Given the description of an element on the screen output the (x, y) to click on. 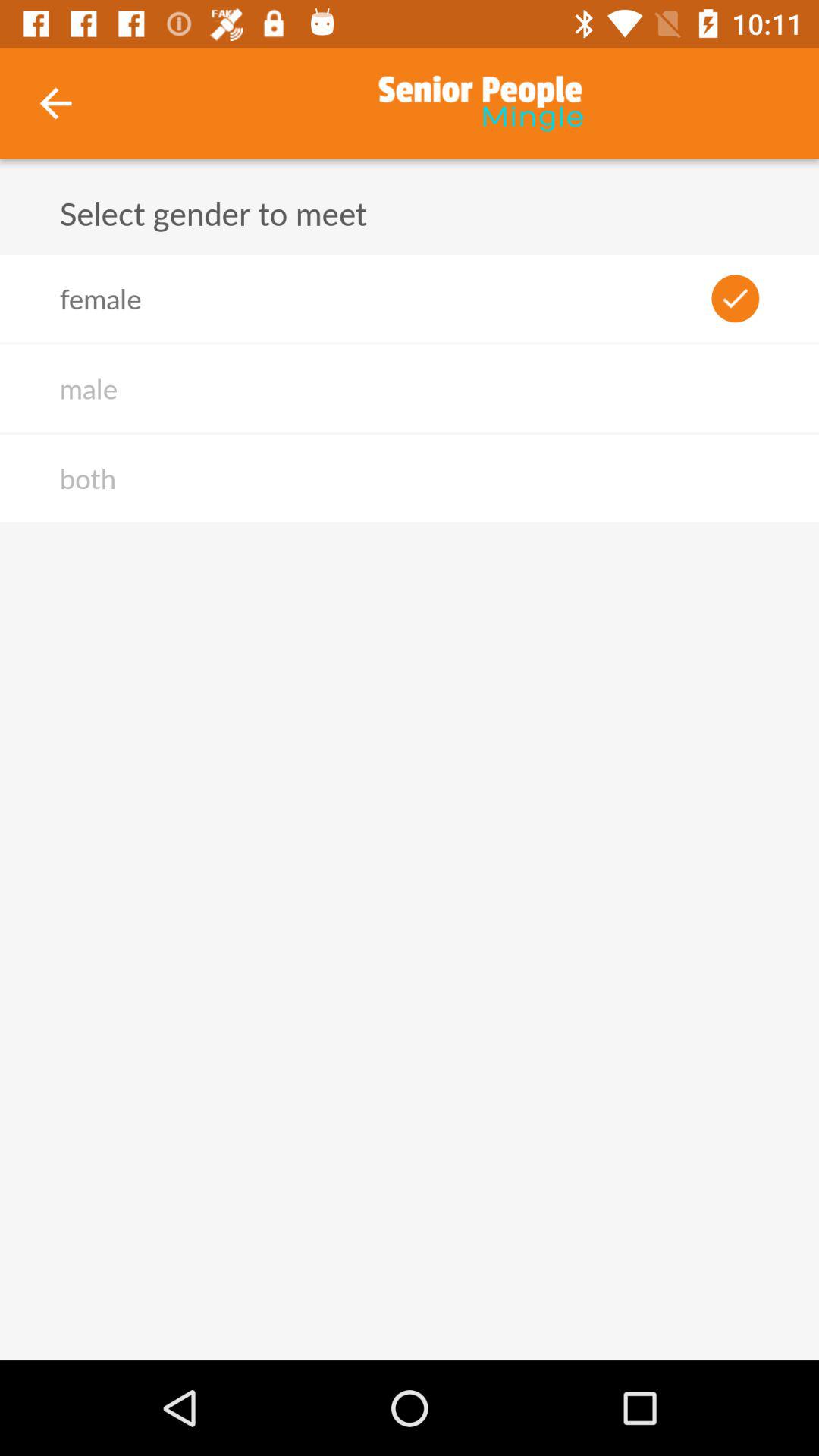
choose icon below the female (88, 388)
